Given the description of an element on the screen output the (x, y) to click on. 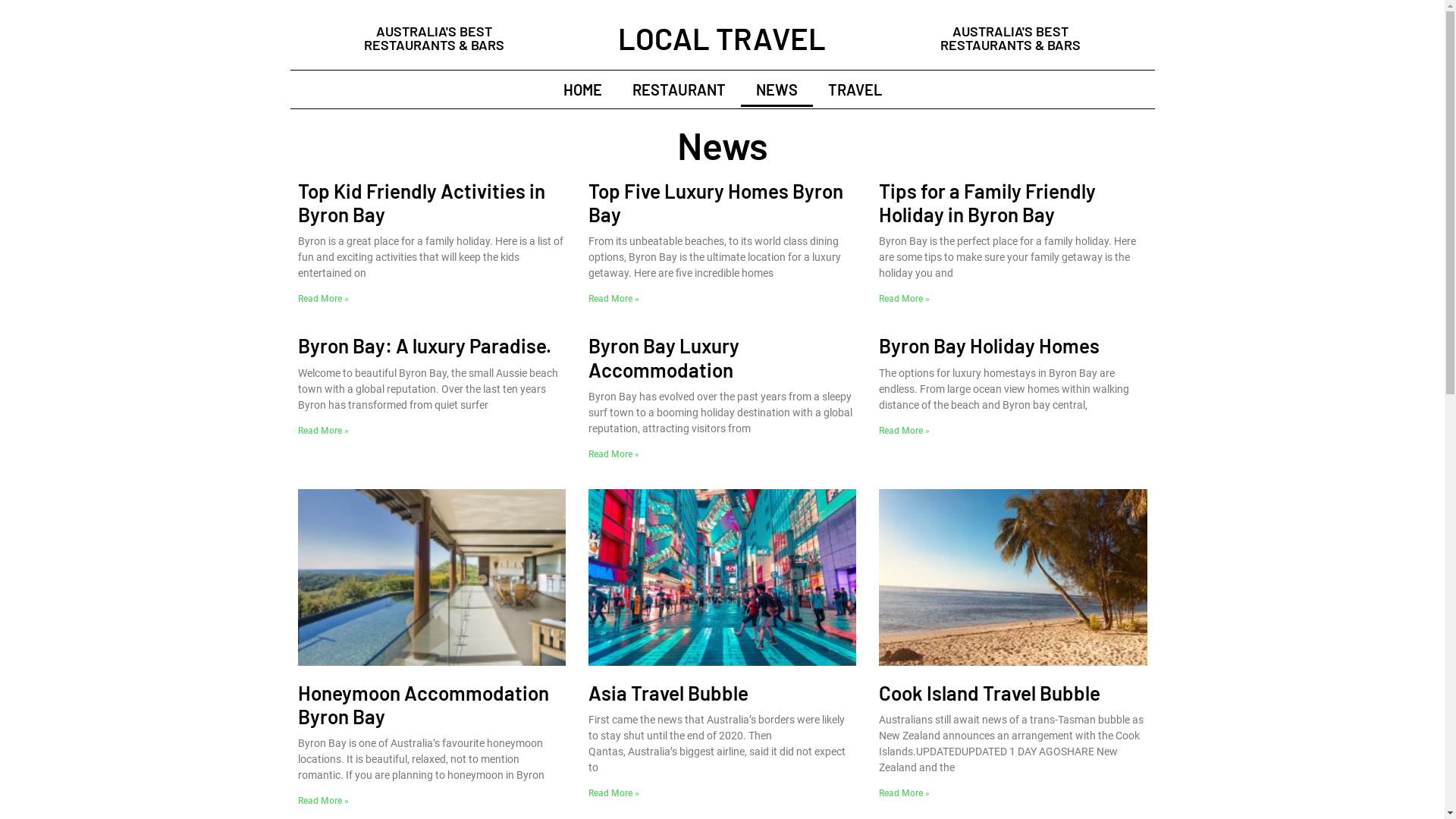
Byron Bay Luxury Accommodation Element type: text (663, 356)
Cook Island Travel Bubble Element type: text (989, 692)
Top Five Luxury Homes Byron Bay Element type: text (715, 201)
Asia Travel Bubble Element type: text (668, 692)
Honeymoon Accommodation Byron Bay Element type: text (422, 704)
Top Kid Friendly Activities in Byron Bay Element type: text (420, 201)
LOCAL TRAVEL Element type: text (721, 37)
RESTAURANT Element type: text (678, 89)
HOME Element type: text (581, 89)
Tips for a Family Friendly Holiday in Byron Bay Element type: text (986, 201)
Byron Bay Holiday Homes Element type: text (988, 345)
Byron Bay: A luxury Paradise. Element type: text (423, 345)
TRAVEL Element type: text (854, 89)
NEWS Element type: text (776, 89)
